Given the description of an element on the screen output the (x, y) to click on. 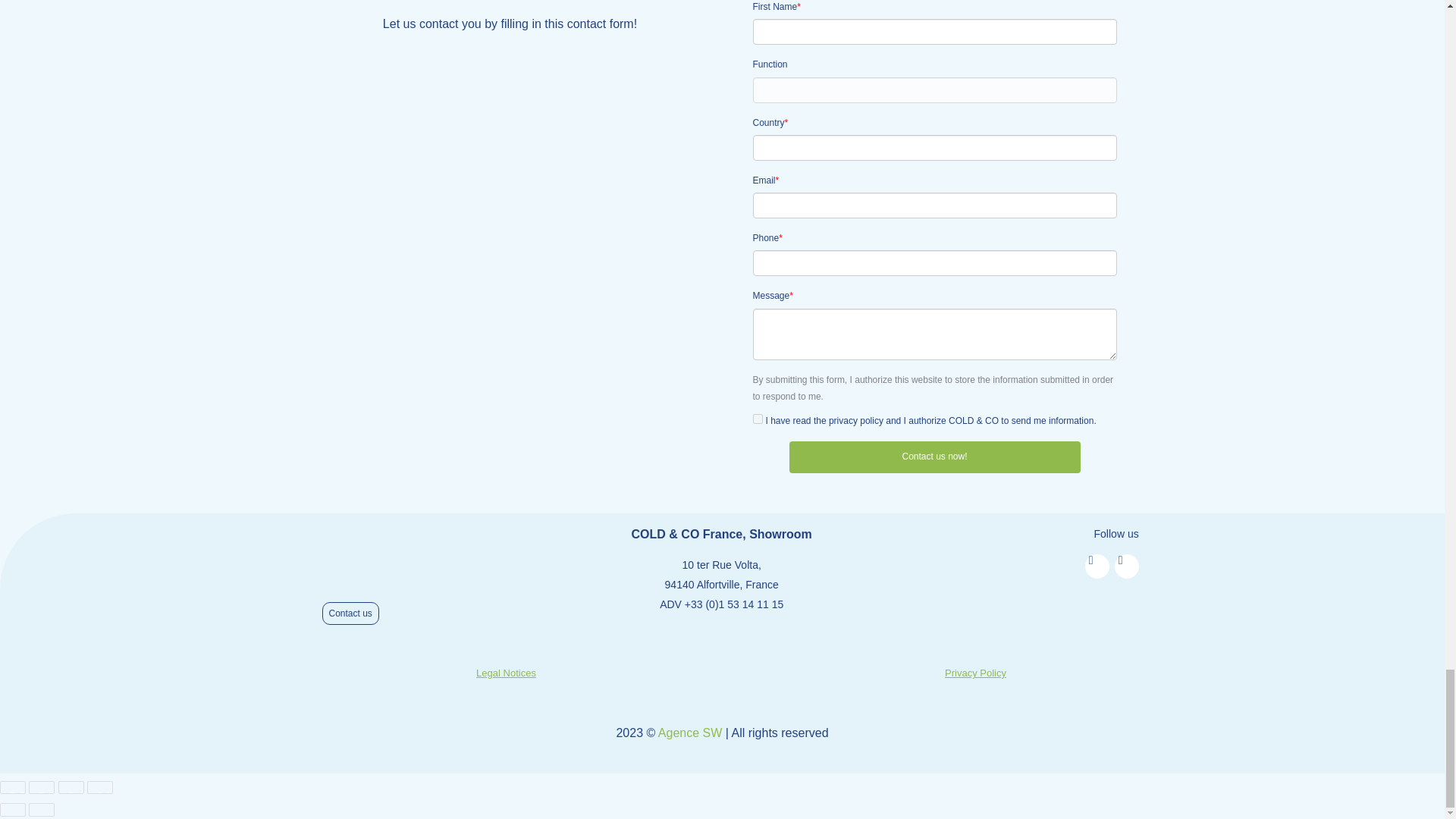
Contact us now! (934, 457)
Contact us now! (934, 457)
on (756, 419)
